Given the description of an element on the screen output the (x, y) to click on. 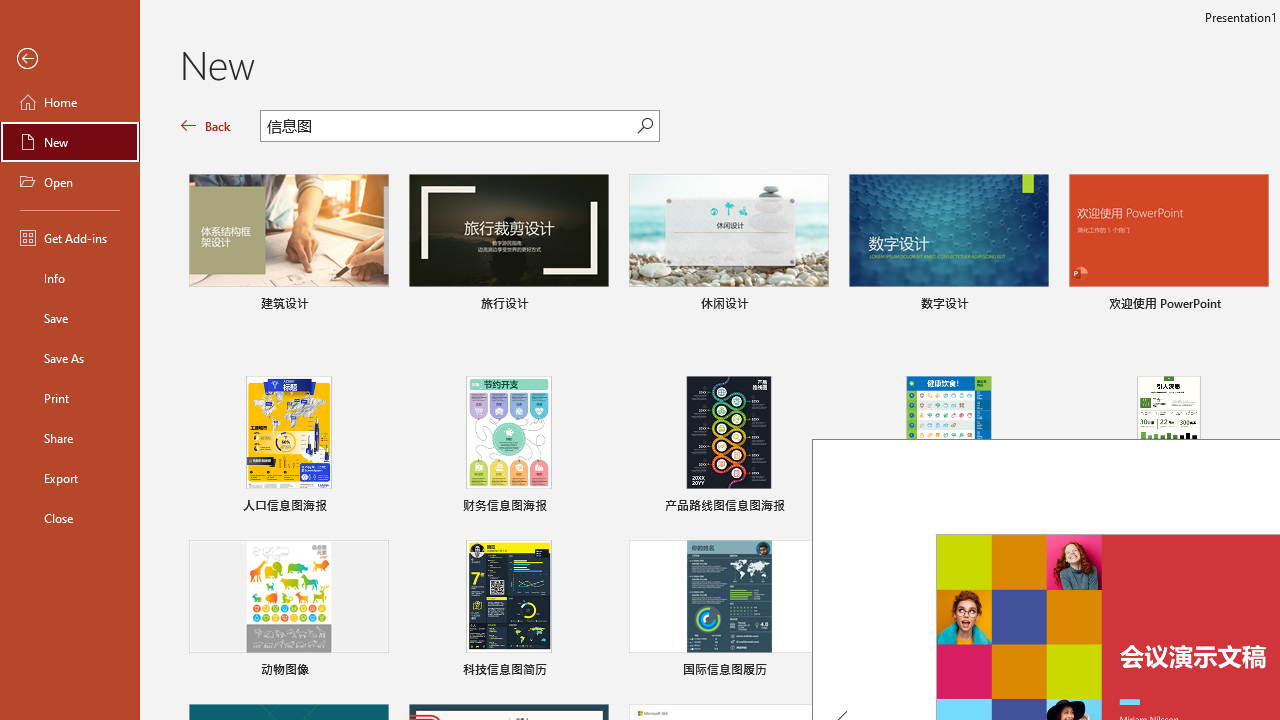
Get Add-ins (69, 237)
Pin to list (1255, 671)
Save As (69, 357)
New (69, 141)
